Given the description of an element on the screen output the (x, y) to click on. 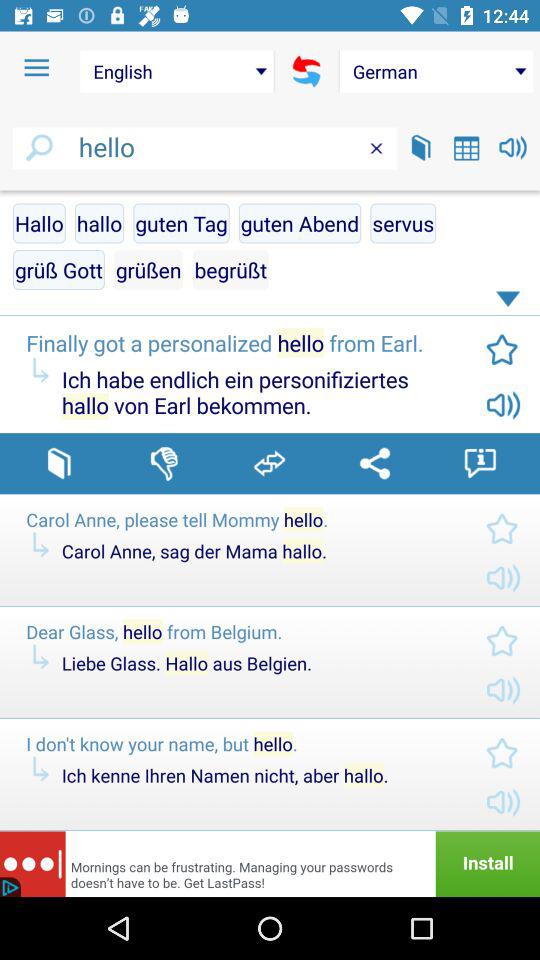
press the item above guten abend (376, 148)
